Given the description of an element on the screen output the (x, y) to click on. 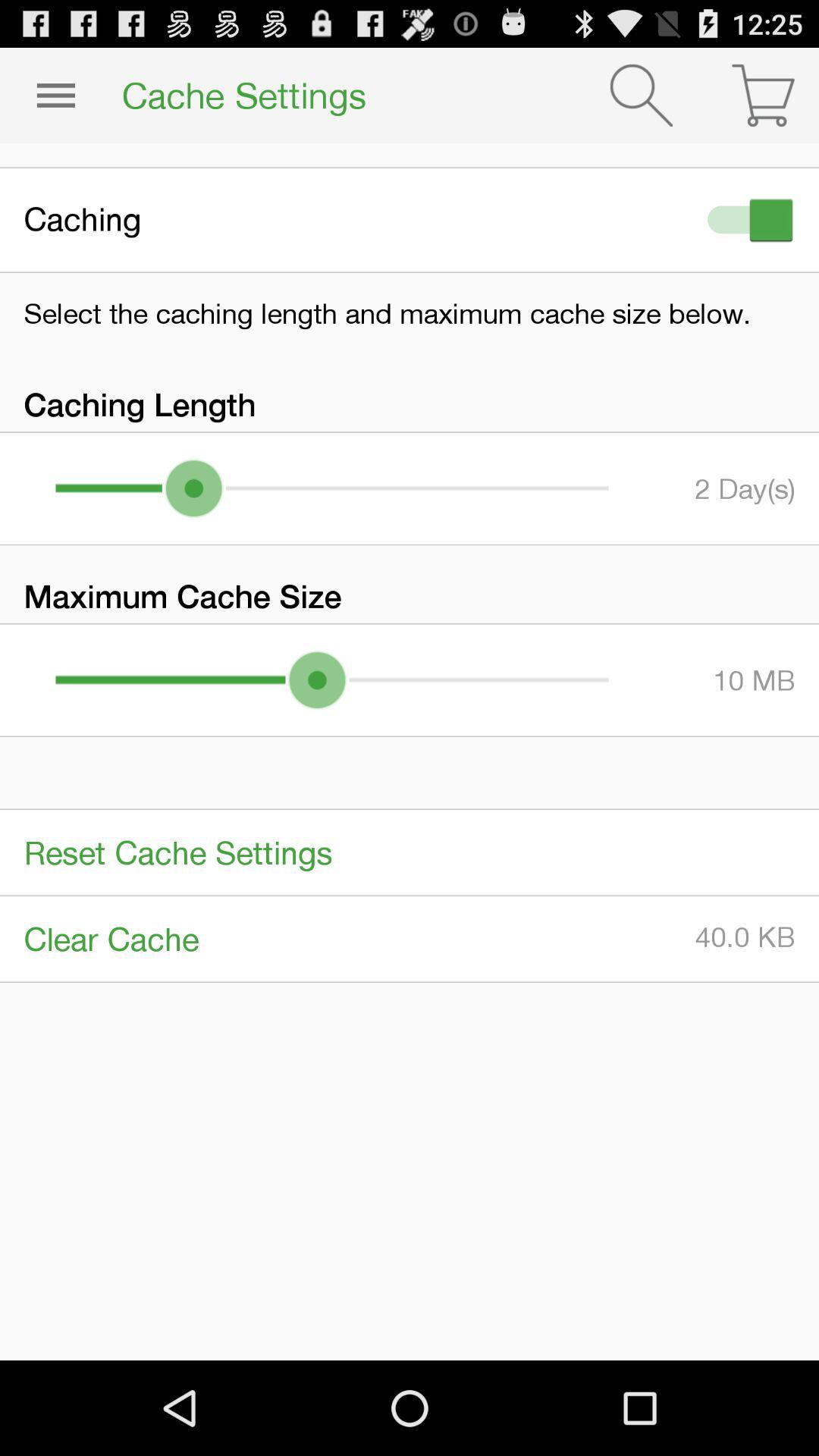
press the item to the left of the cache settings item (55, 95)
